Given the description of an element on the screen output the (x, y) to click on. 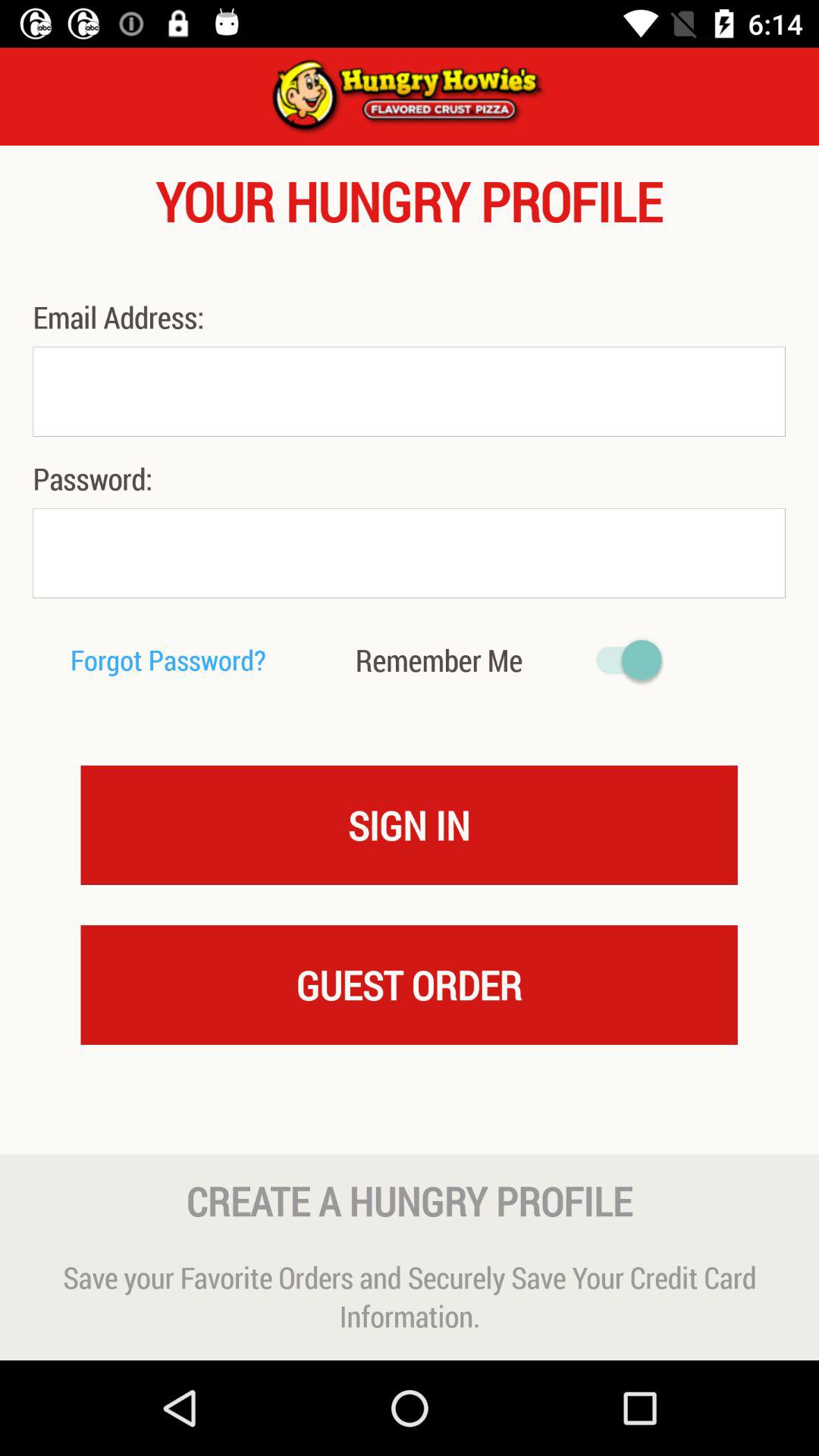
open the item next to forgot password? icon (438, 659)
